Given the description of an element on the screen output the (x, y) to click on. 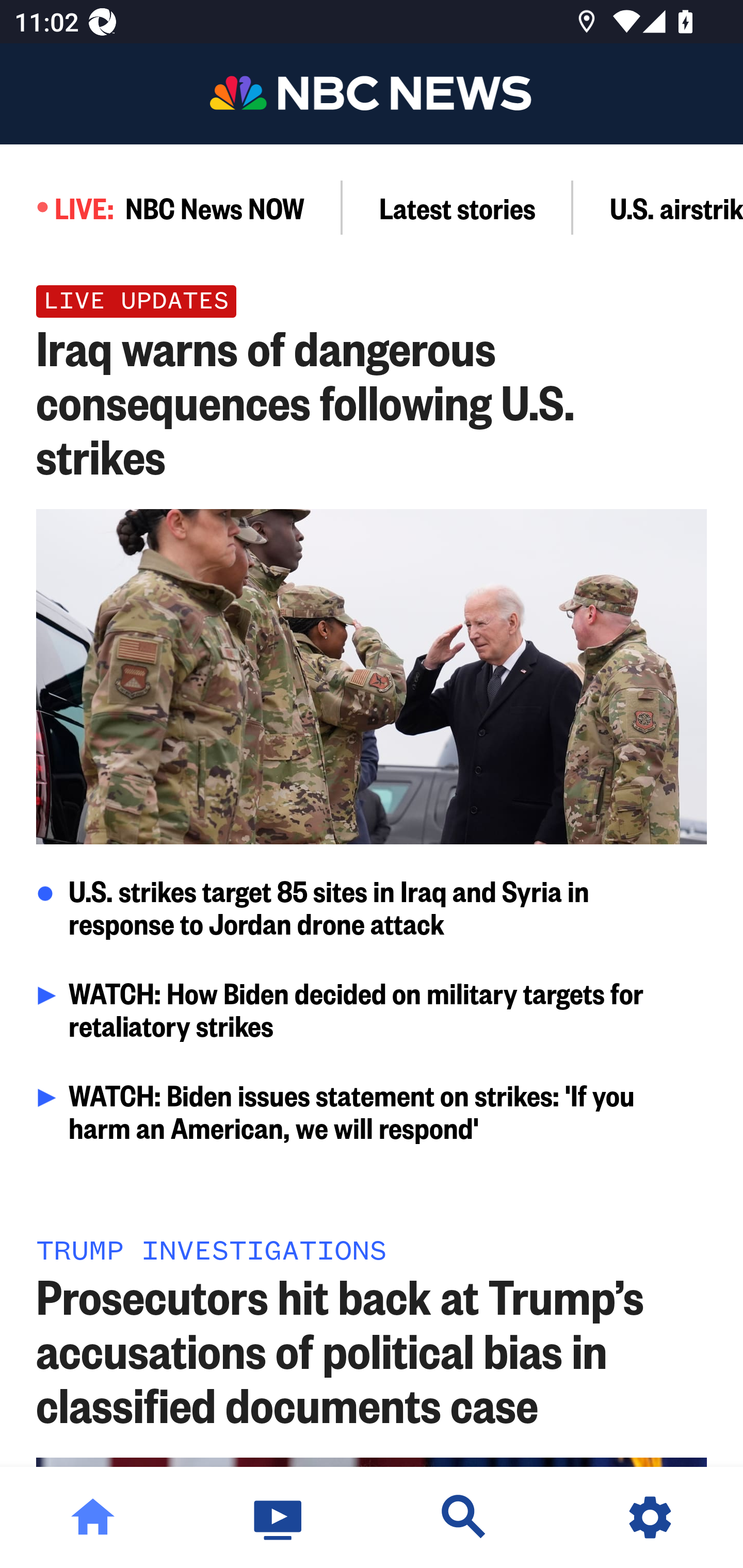
LIVE:  NBC News NOW (171, 207)
Latest stories Section,Latest stories (457, 207)
U.S. airstrikes (658, 207)
Watch (278, 1517)
Discover (464, 1517)
Settings (650, 1517)
